Given the description of an element on the screen output the (x, y) to click on. 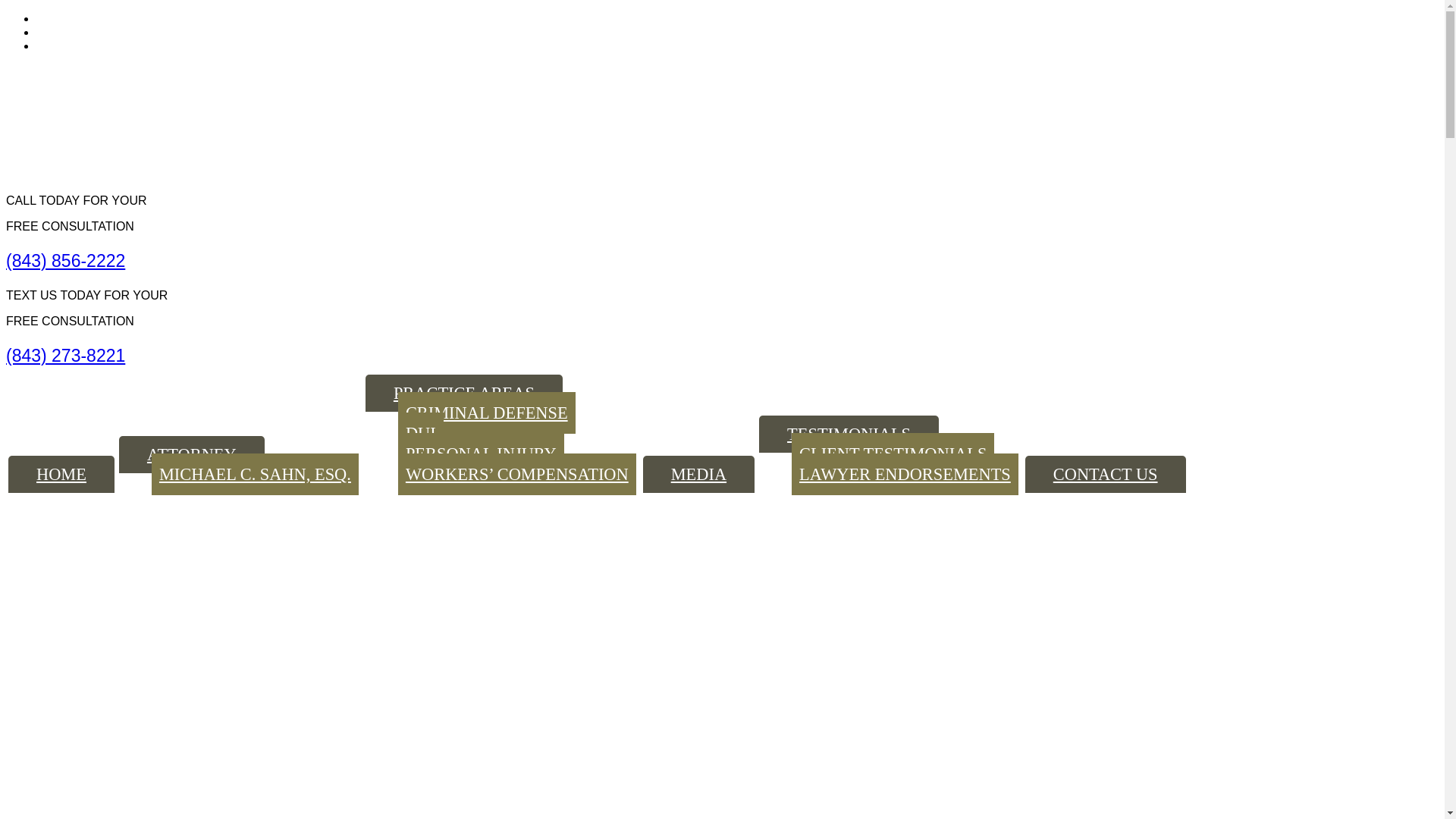
LAWYER ENDORSEMENTS (904, 474)
PERSONAL INJURY (480, 454)
CLIENT TESTIMONIALS (893, 454)
TESTIMONIALS (848, 433)
CRIMINAL DEFENSE (486, 413)
CONTACT US (1105, 474)
MICHAEL C. SAHN, ESQ. (254, 474)
MEDIA (698, 474)
HOME (61, 474)
DUI (420, 433)
